Given the description of an element on the screen output the (x, y) to click on. 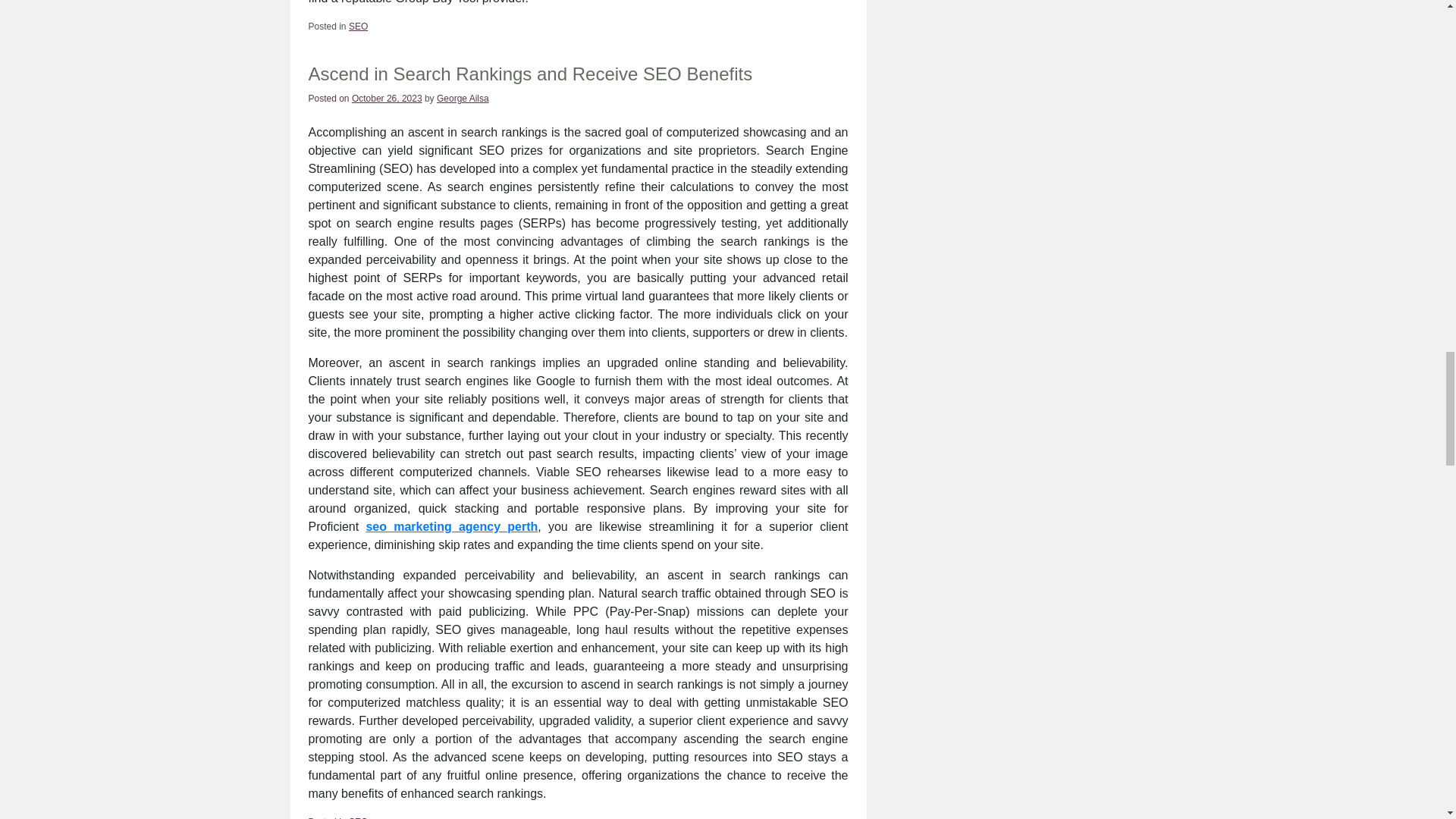
October 26, 2023 (387, 98)
SEO (358, 26)
seo marketing agency perth (451, 526)
George Ailsa (462, 98)
SEO (358, 817)
Ascend in Search Rankings and Receive SEO Benefits (529, 73)
